Given the description of an element on the screen output the (x, y) to click on. 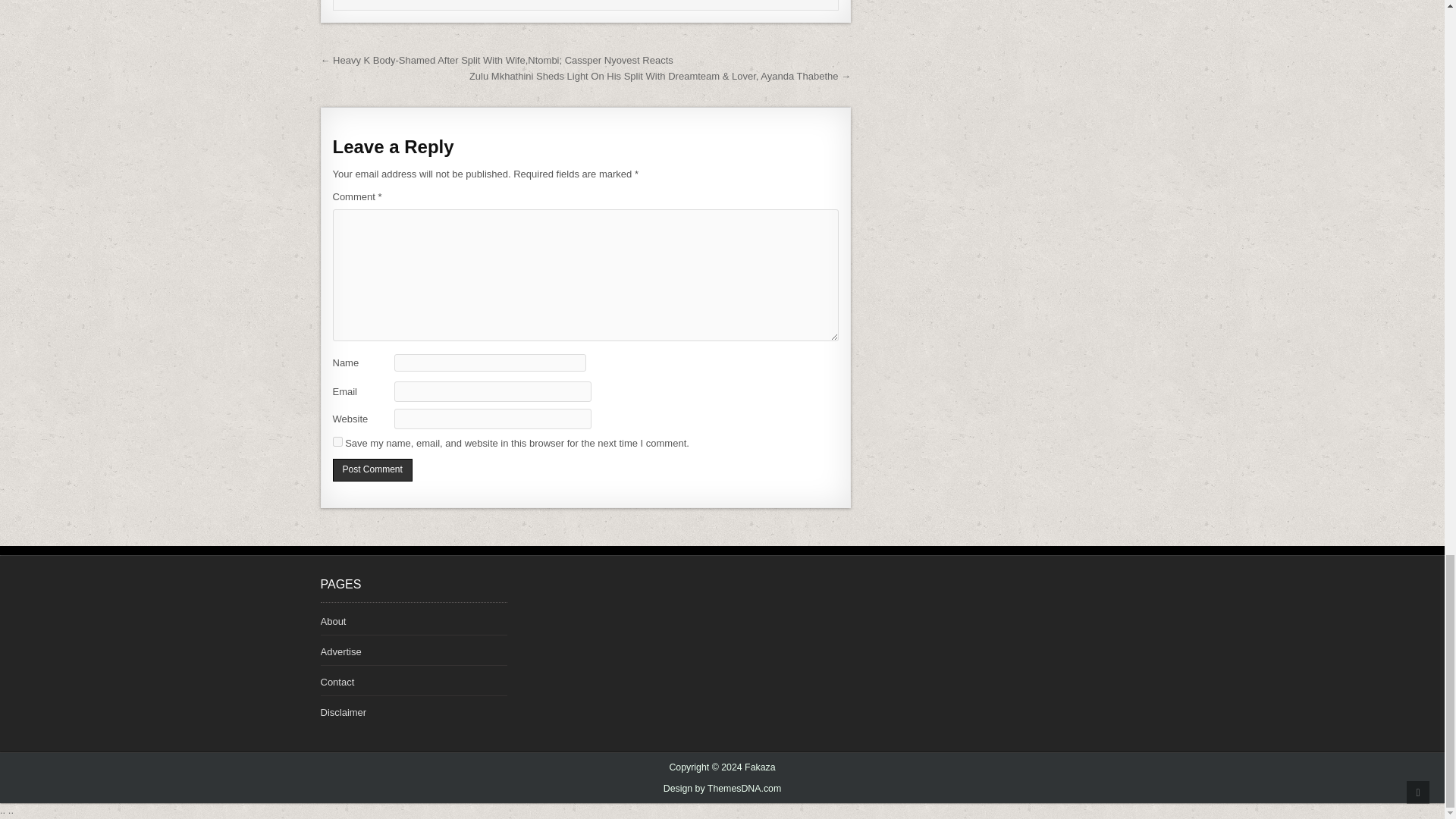
Post Comment (371, 470)
Post Comment (371, 470)
yes (336, 441)
